Given the description of an element on the screen output the (x, y) to click on. 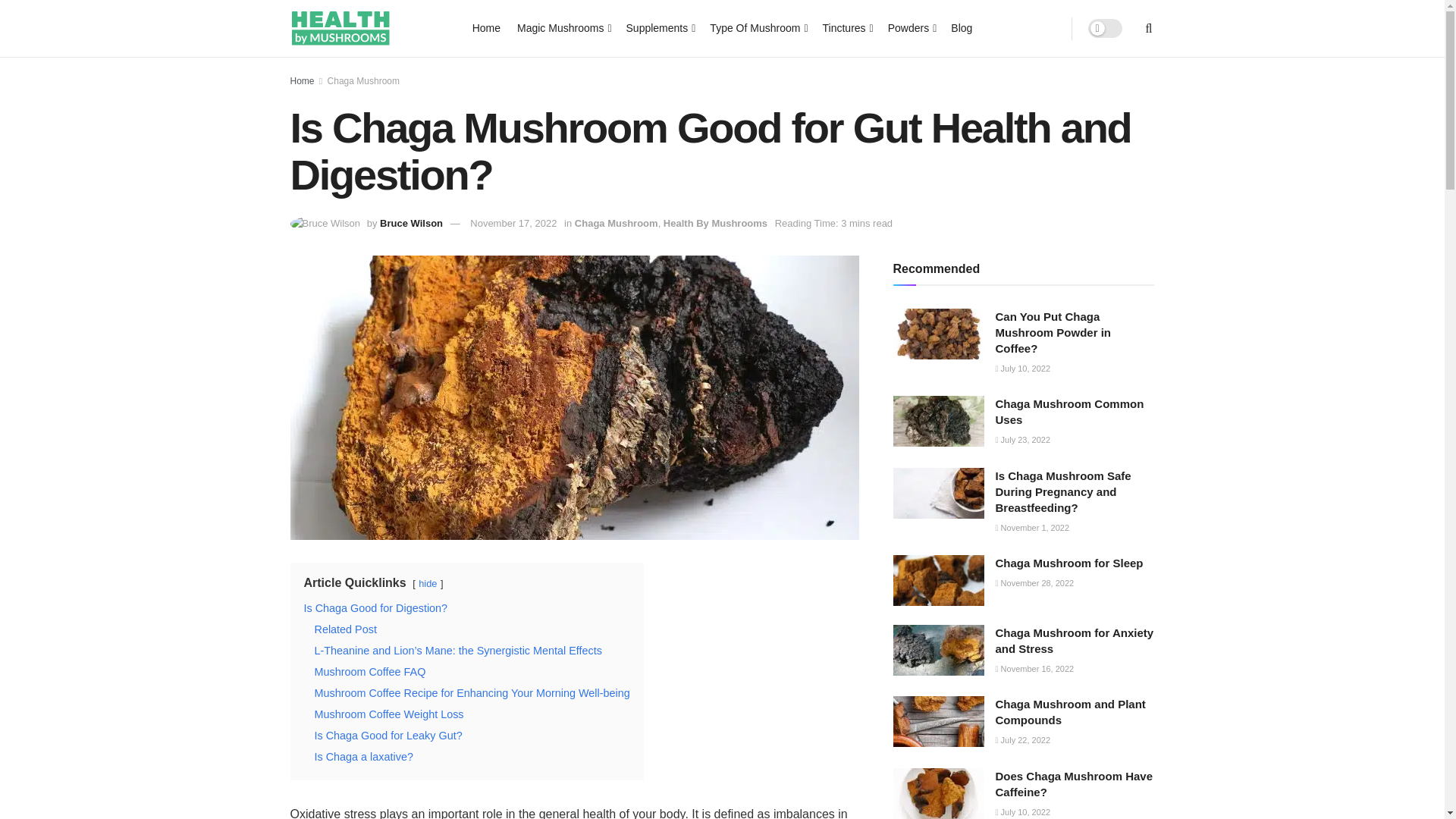
Home (485, 27)
Supplements (660, 27)
Magic Mushrooms (563, 27)
Type Of Mushroom (757, 27)
